Given the description of an element on the screen output the (x, y) to click on. 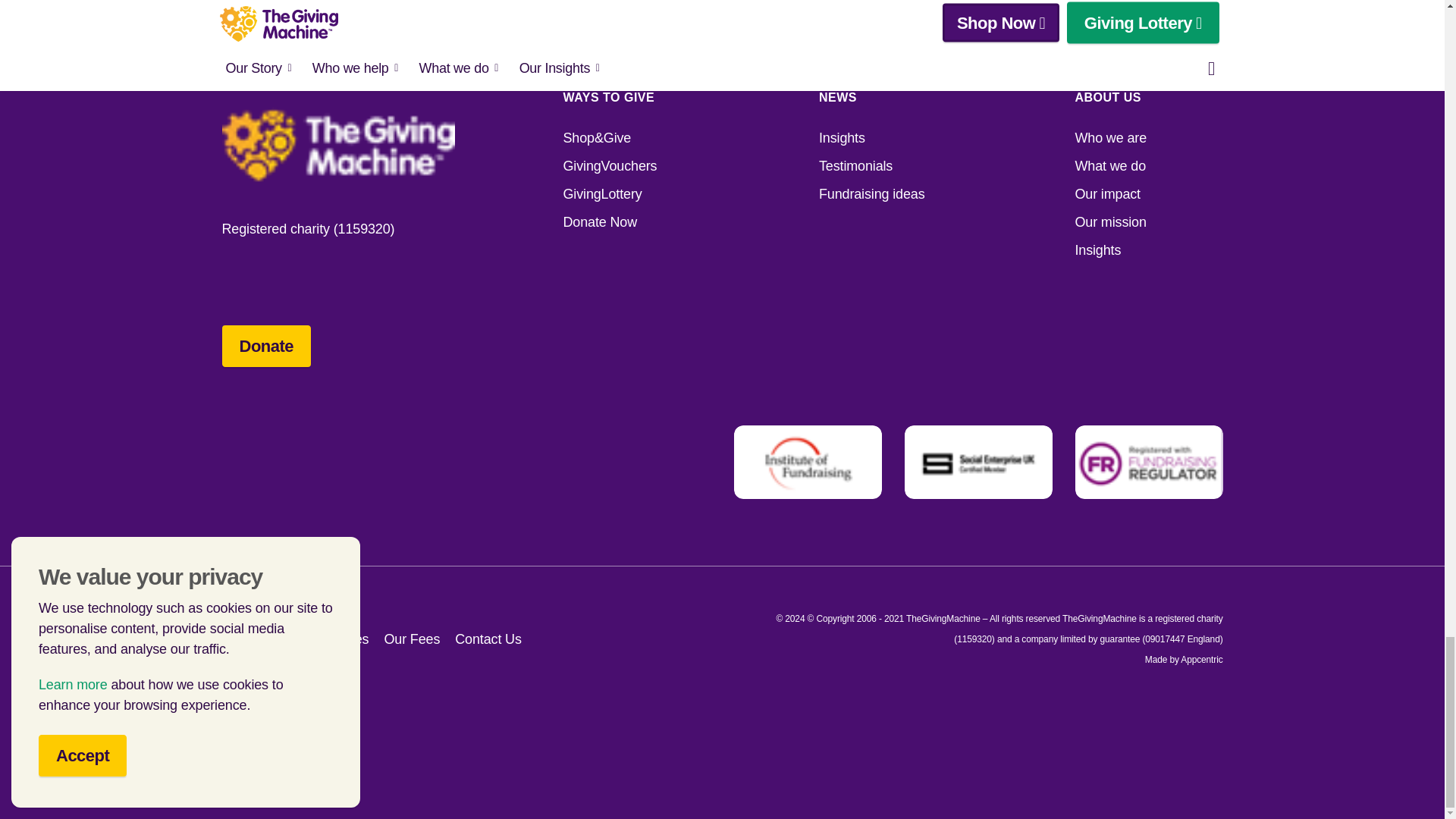
GivingLottery (636, 194)
GivingVouchers (636, 166)
Appcentric (1201, 659)
Donate Now (636, 222)
